Given the description of an element on the screen output the (x, y) to click on. 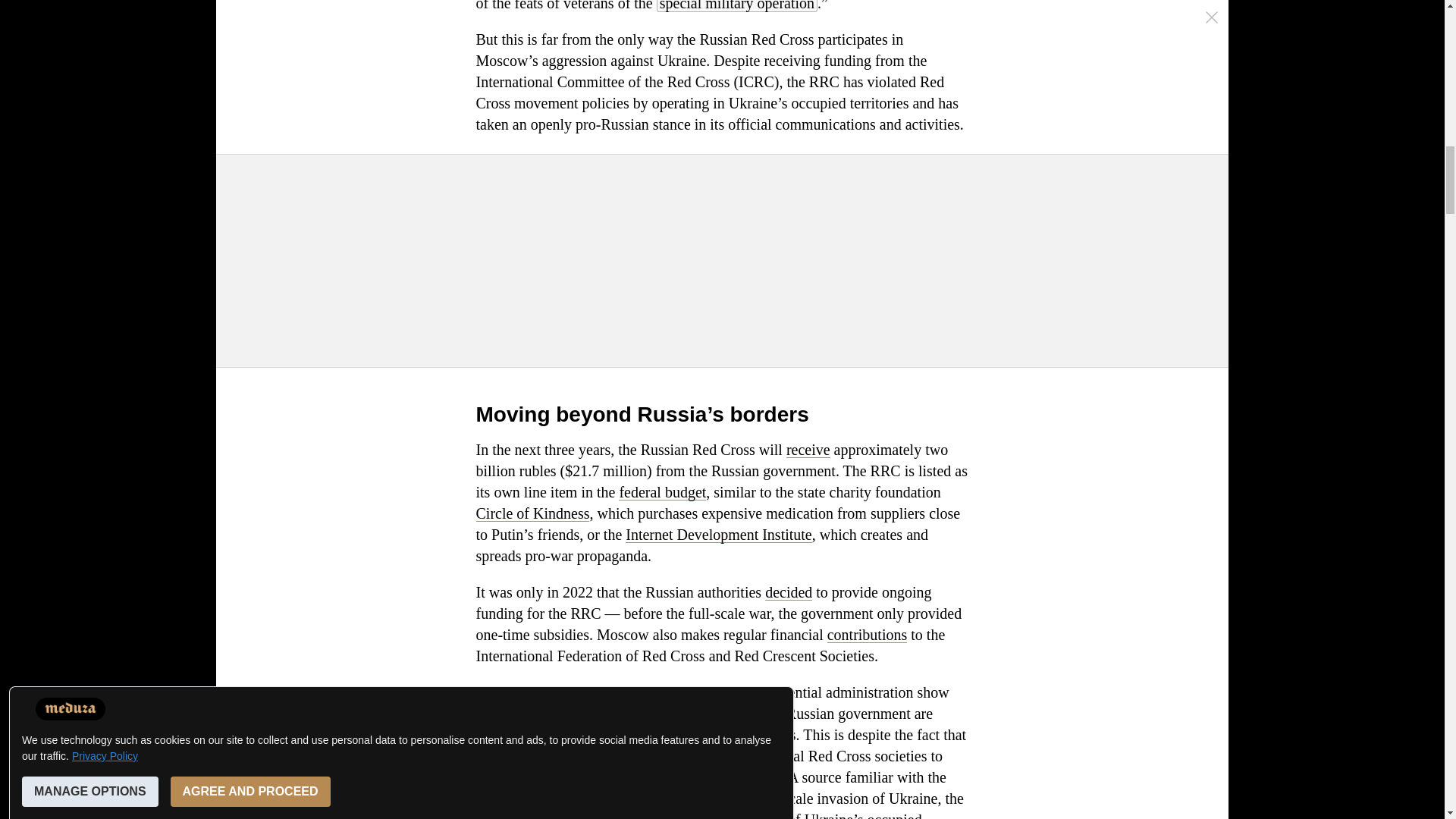
federal budget (662, 492)
receive (807, 449)
contributions (867, 634)
Circle of Kindness (532, 513)
Internet Development Institute (718, 534)
decided (788, 591)
